Given the description of an element on the screen output the (x, y) to click on. 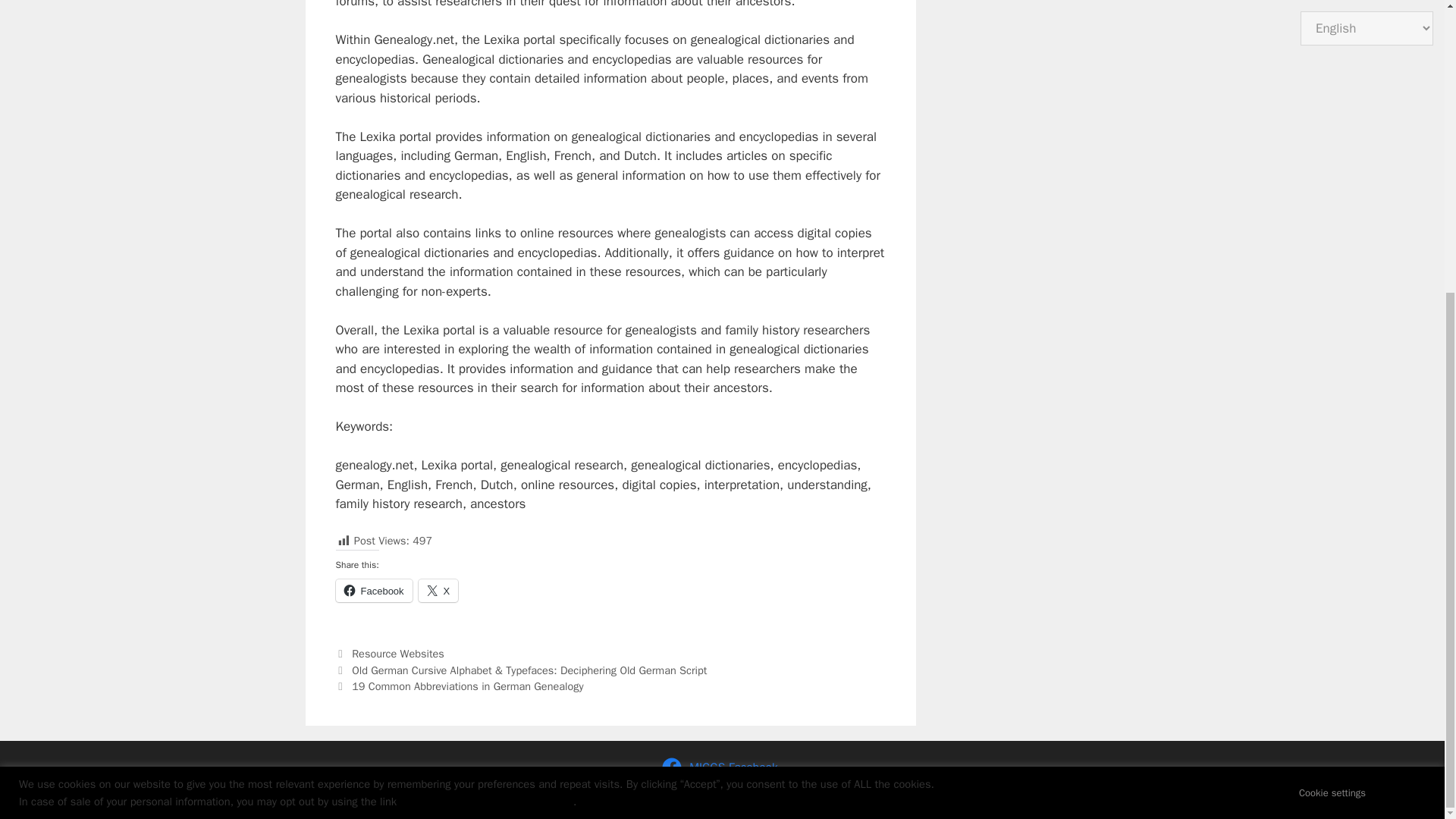
Click to share on Facebook (373, 590)
Facebook (373, 590)
Accept (1401, 344)
Cookie settings (1332, 344)
Click to share on X (438, 590)
19 Common Abbreviations in German Genealogy (467, 685)
Resource Websites (398, 653)
X (438, 590)
GeneratePress (874, 794)
MIGGS Facebook (722, 766)
Do not sell my personal information (486, 353)
